Given the description of an element on the screen output the (x, y) to click on. 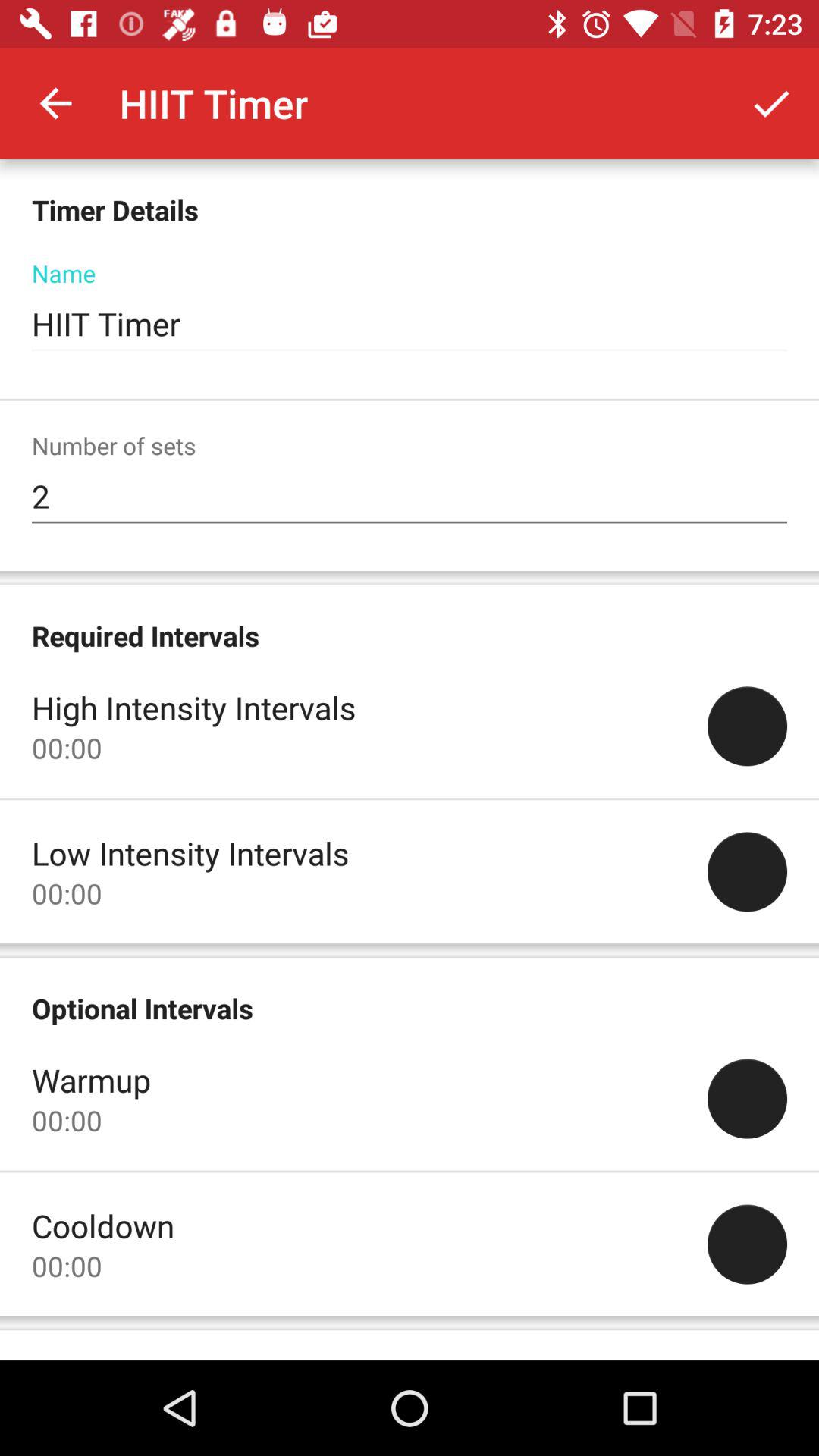
choose item at the top right corner (771, 103)
